Given the description of an element on the screen output the (x, y) to click on. 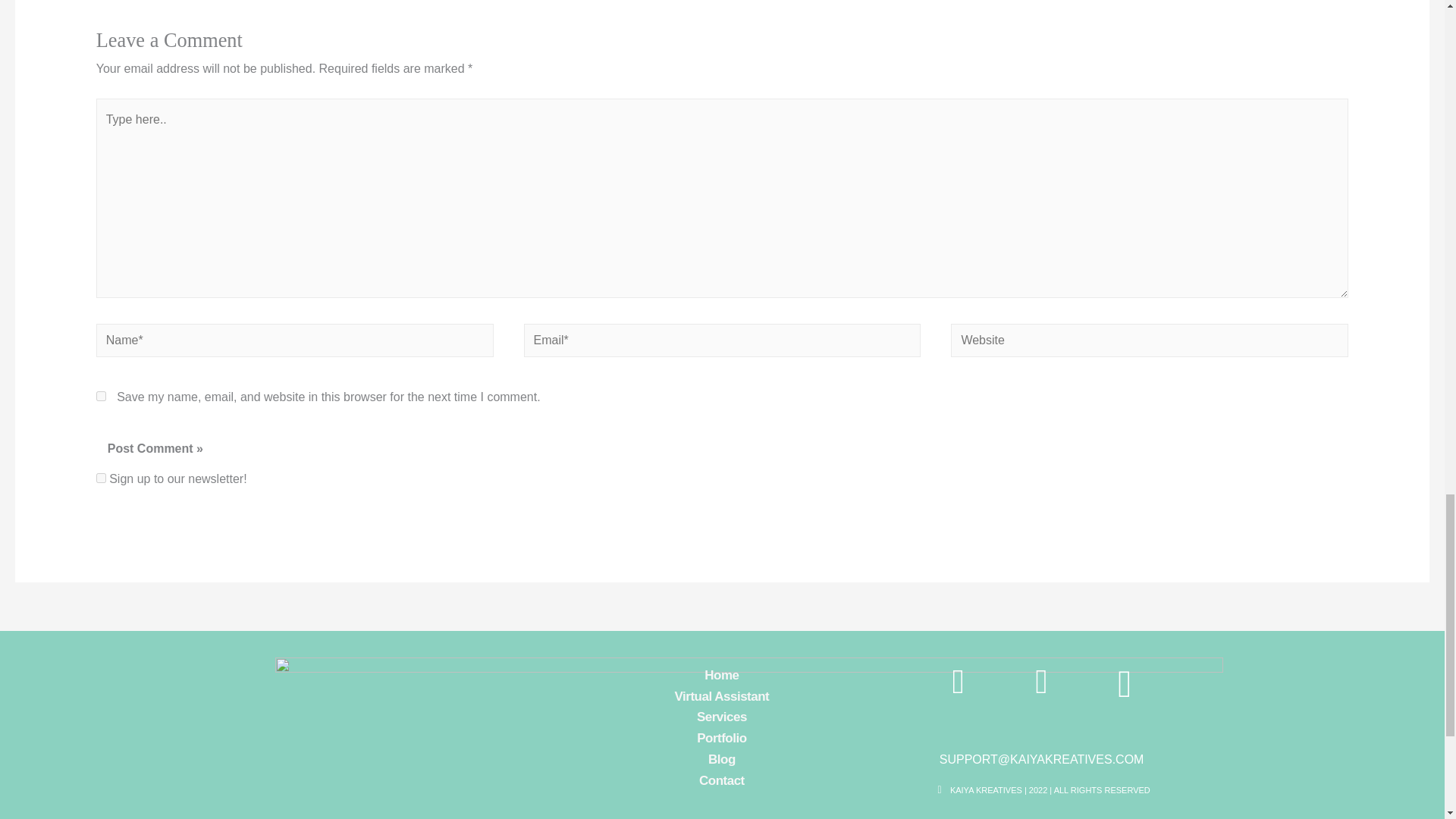
Services (721, 717)
Contact (721, 780)
Home (721, 675)
Virtual Assistant (721, 696)
Portfolio (721, 738)
1 (101, 478)
yes (101, 396)
Blog (721, 759)
